Given the description of an element on the screen output the (x, y) to click on. 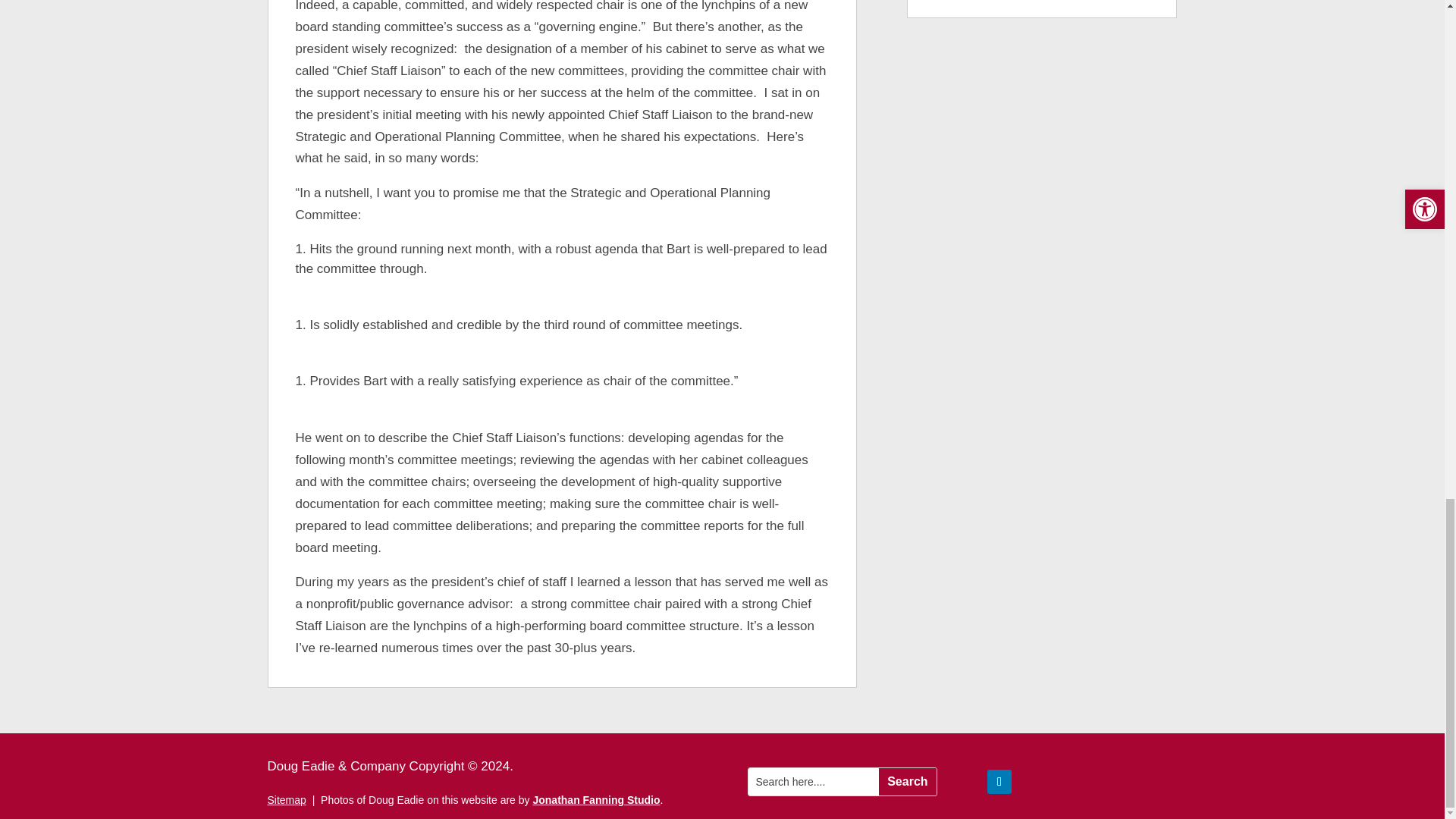
Search (907, 781)
Follow on LinkedIn (999, 781)
Search (907, 781)
